Given the description of an element on the screen output the (x, y) to click on. 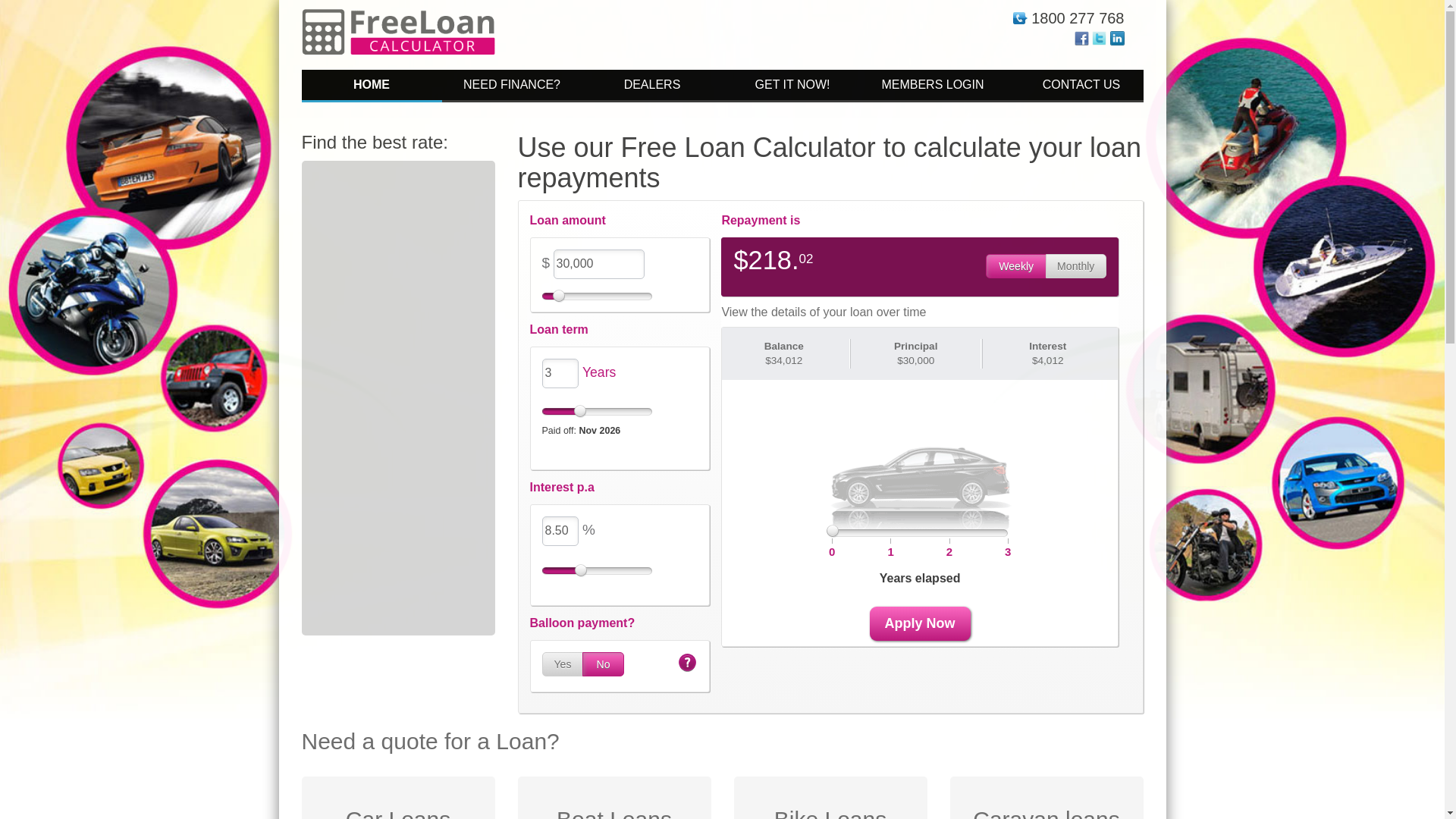
Facebook Element type: hover (1081, 37)
DEALERS Element type: text (652, 85)
Submit Element type: text (919, 375)
Twitter Element type: hover (1099, 37)
HOME Element type: text (371, 85)
NEED FINANCE? Element type: text (511, 85)
GET IT NOW! Element type: text (791, 85)
CONTACT US Element type: text (1072, 85)
MEMBERS LOGIN Element type: text (932, 85)
LinkedIn Element type: hover (1117, 37)
